Given the description of an element on the screen output the (x, y) to click on. 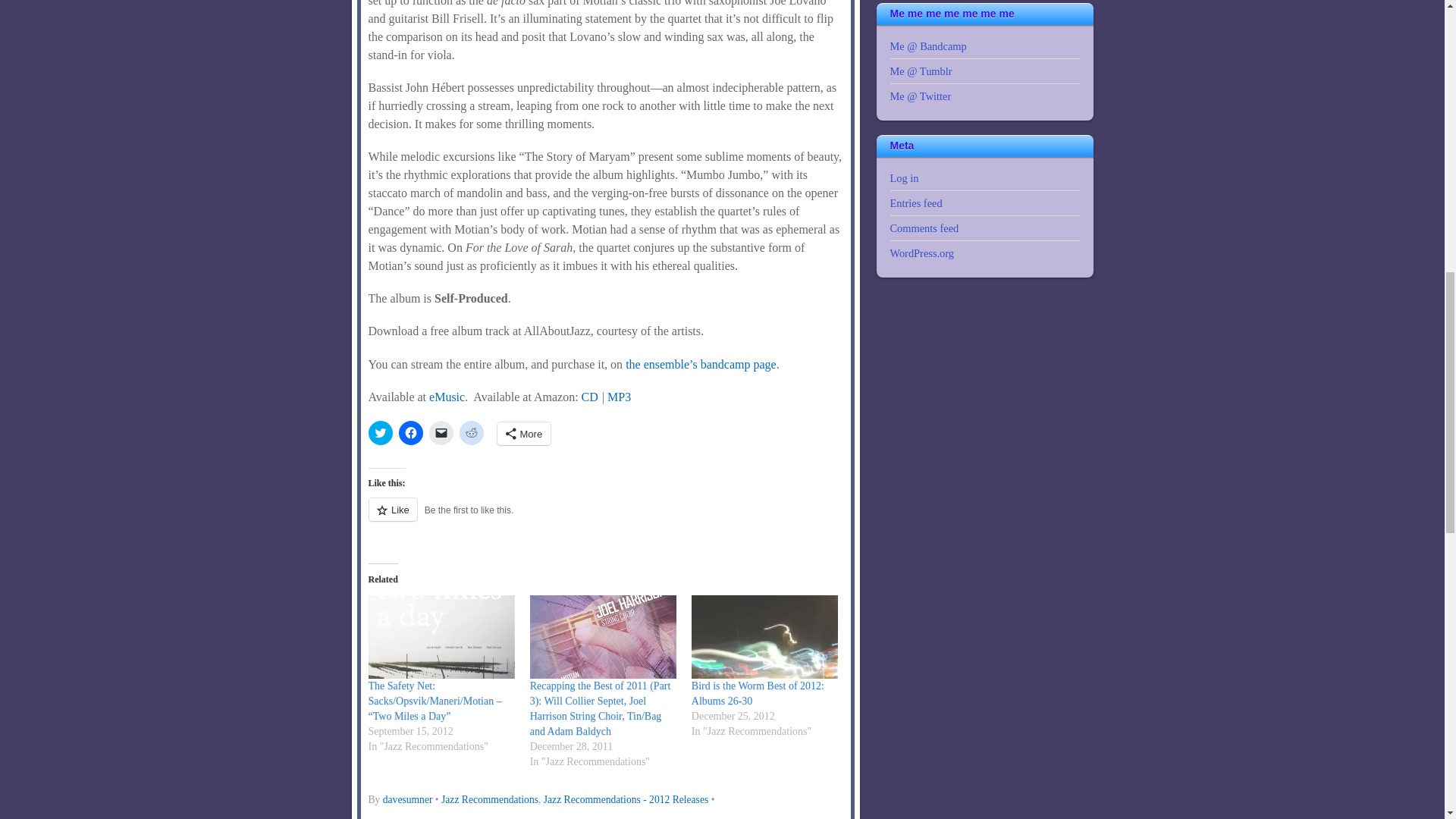
Click to share on Reddit (471, 432)
Jazz Recommendations - 2012 Releases (625, 799)
Click to share on Facebook (410, 432)
link to artist bandcamp page (701, 364)
More (524, 433)
Click to share on Twitter (380, 432)
Bird is the Worm Best of 2012: Albums 26-30 (757, 693)
davesumner (407, 799)
eMusic (446, 396)
link to emusic album page (446, 396)
